Given the description of an element on the screen output the (x, y) to click on. 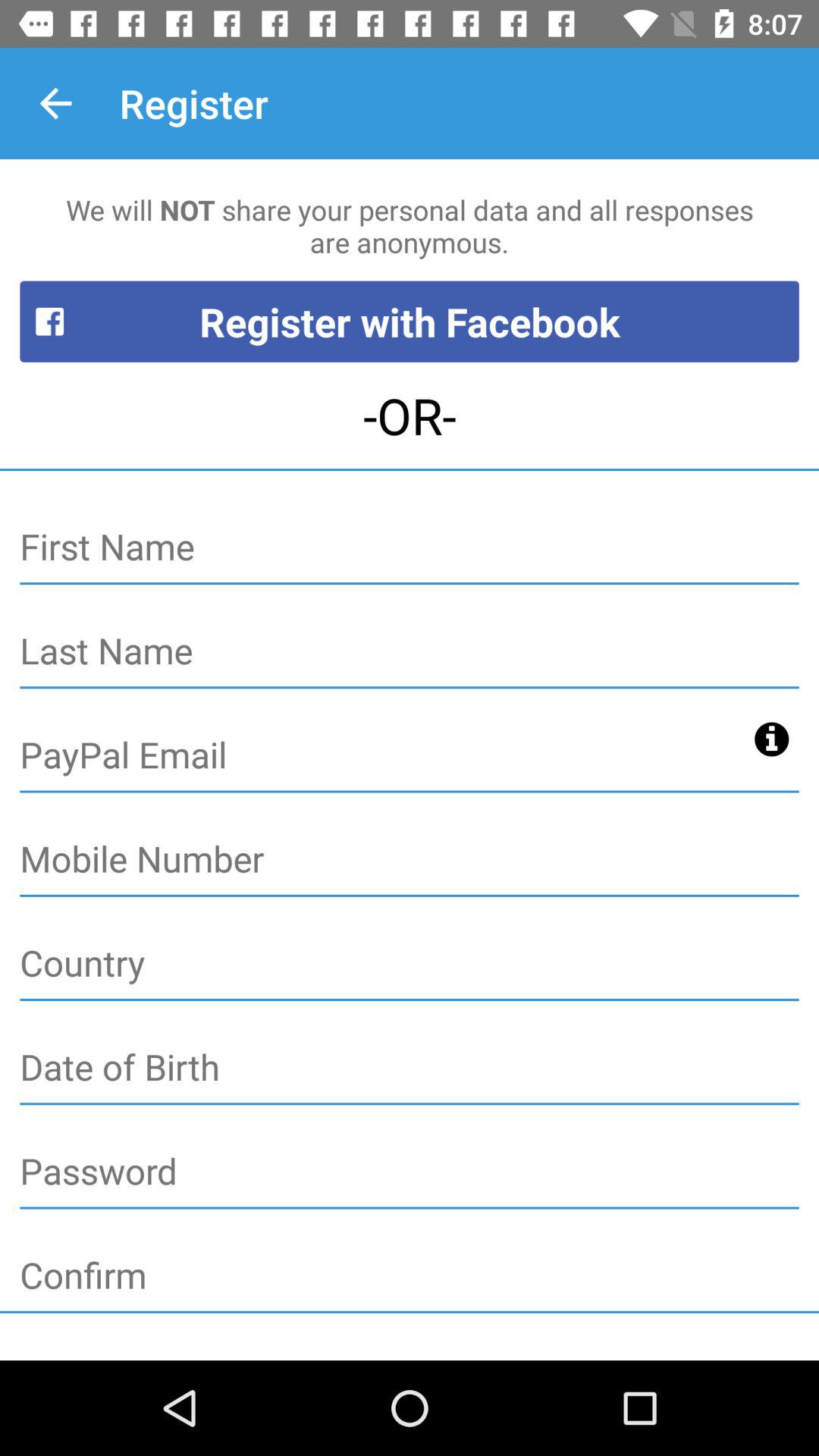
first name button (409, 547)
